Given the description of an element on the screen output the (x, y) to click on. 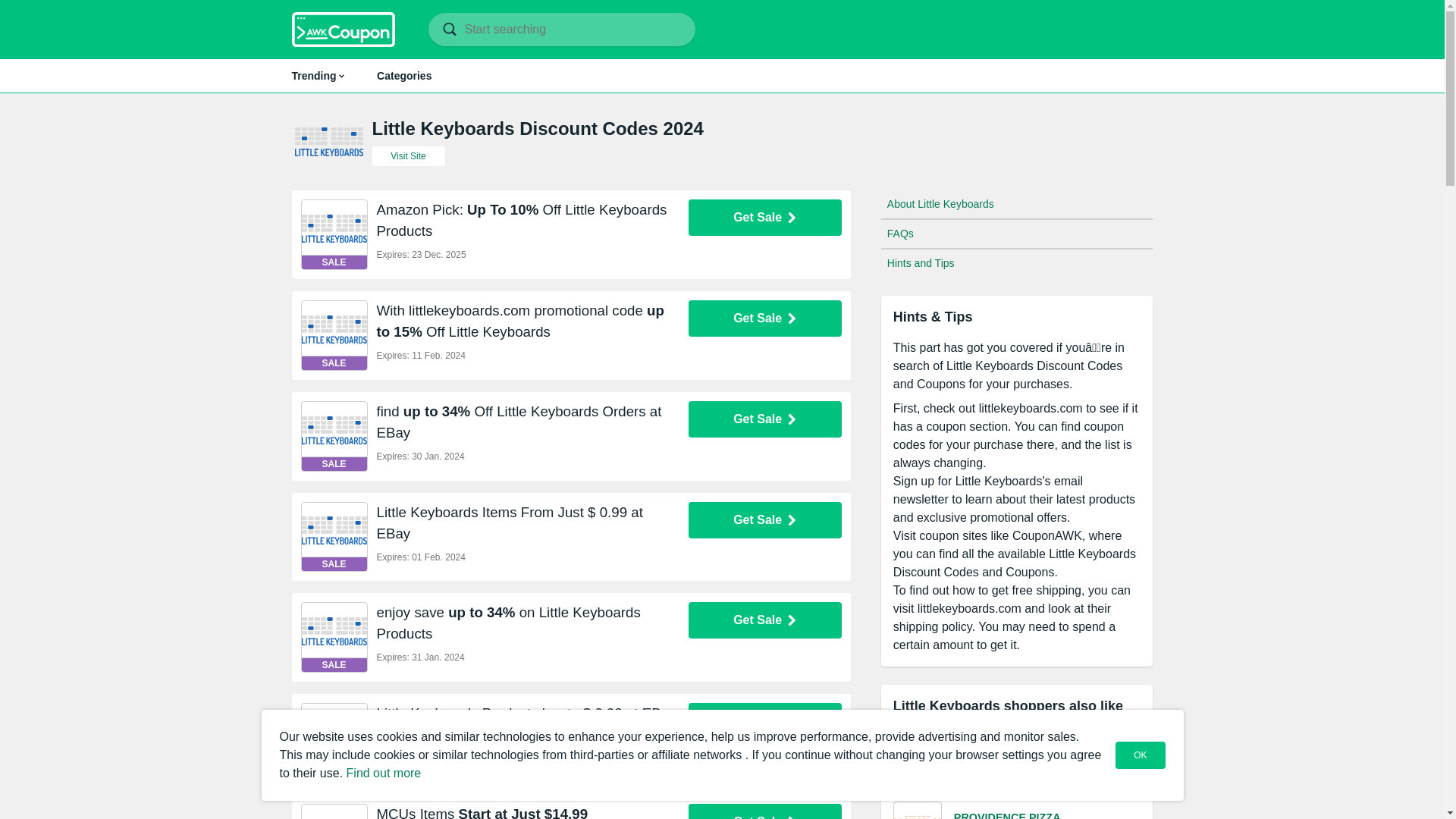
Go to Home (342, 29)
Trending (721, 75)
Categories (316, 75)
